Given the description of an element on the screen output the (x, y) to click on. 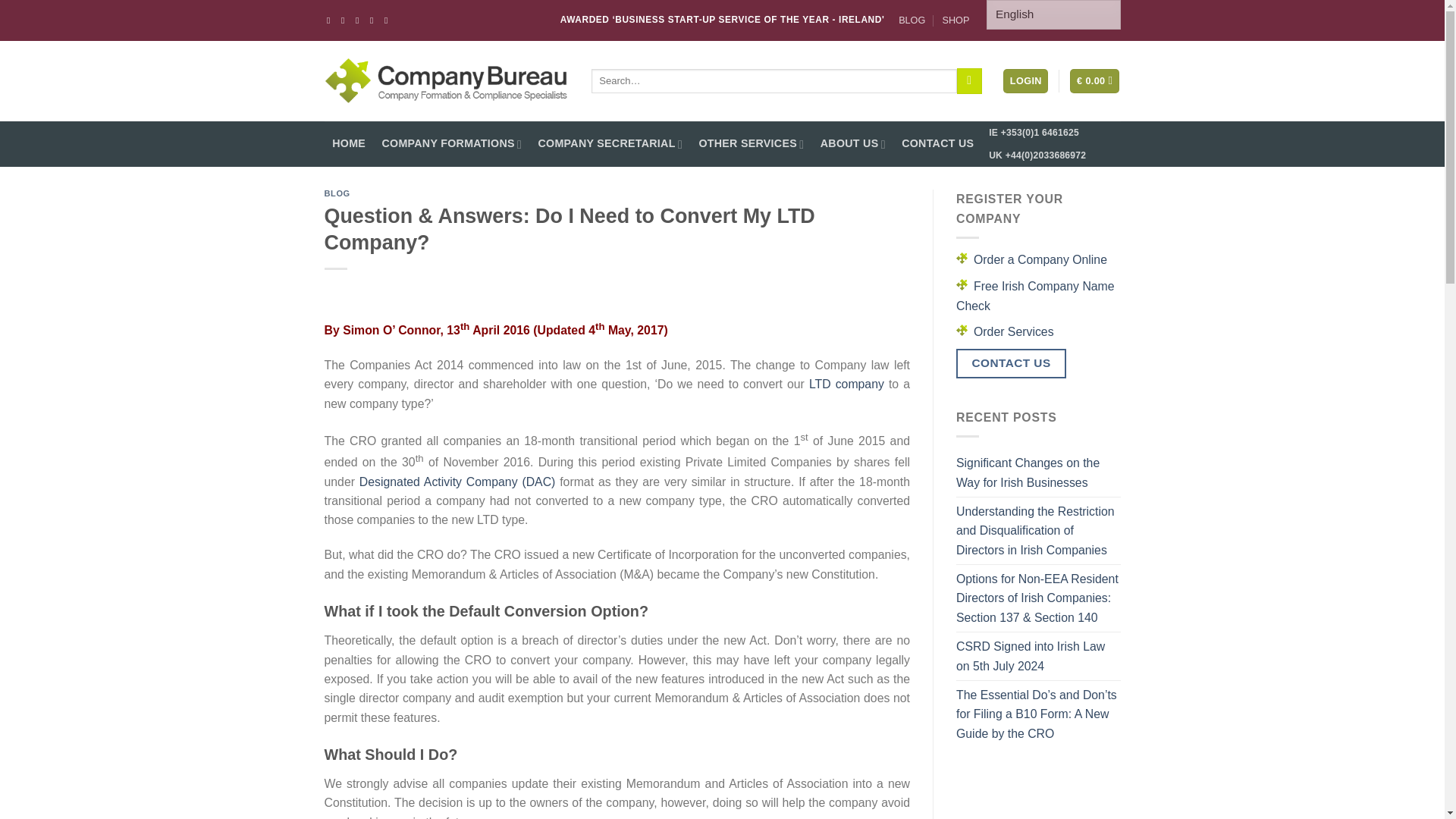
COMPANY SECRETARIAL (609, 144)
HOME (349, 144)
BLOG (911, 20)
Cart (1094, 80)
COMPANY FORMATIONS (451, 144)
LOGIN (1025, 80)
SHOP (955, 20)
Search (968, 80)
